Given the description of an element on the screen output the (x, y) to click on. 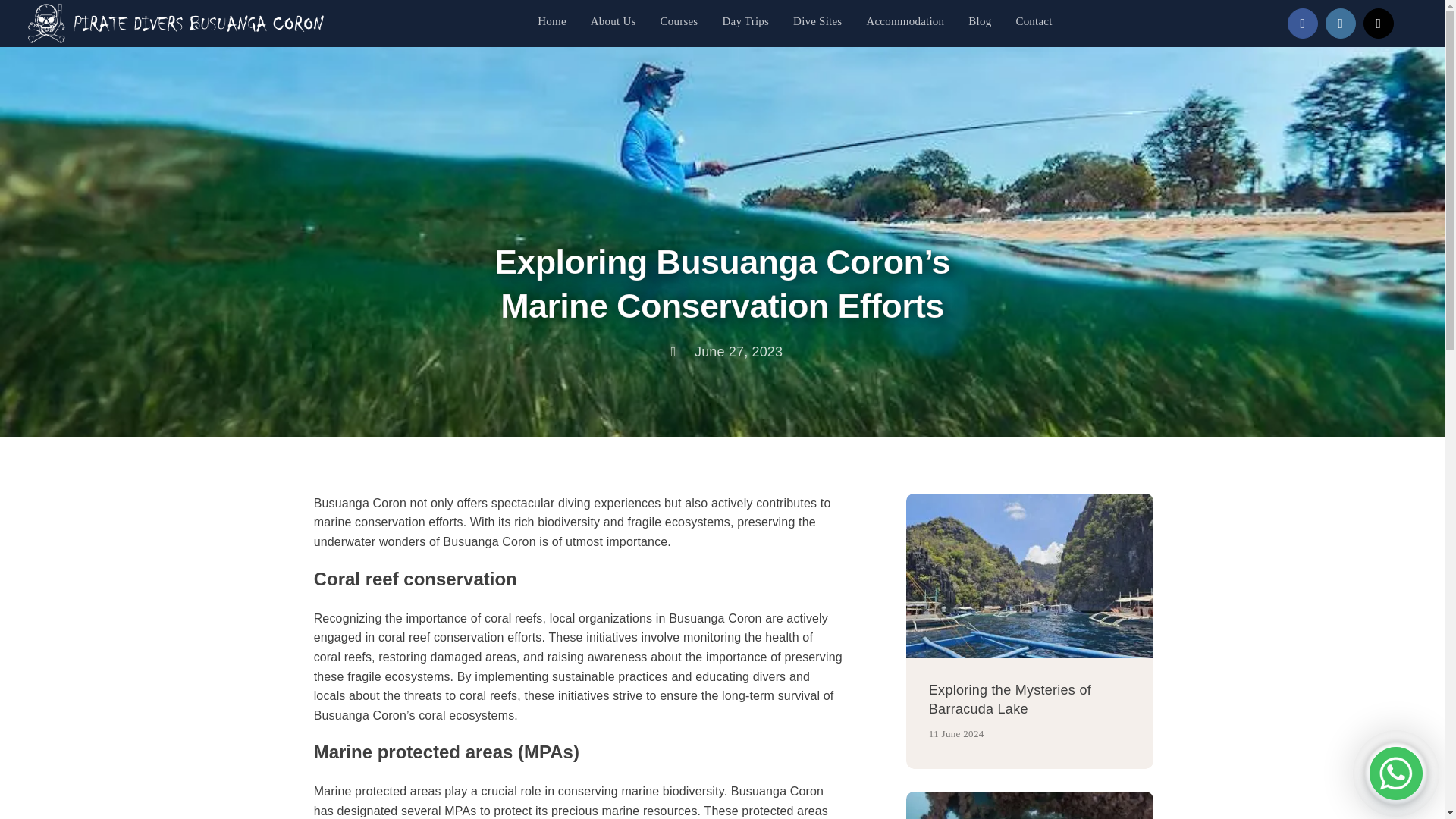
About Us (613, 22)
Contact (1033, 22)
Courses (679, 22)
Dive Sites (817, 22)
oki3 (1029, 805)
Day Trips (745, 22)
Accommodation (905, 22)
